Given the description of an element on the screen output the (x, y) to click on. 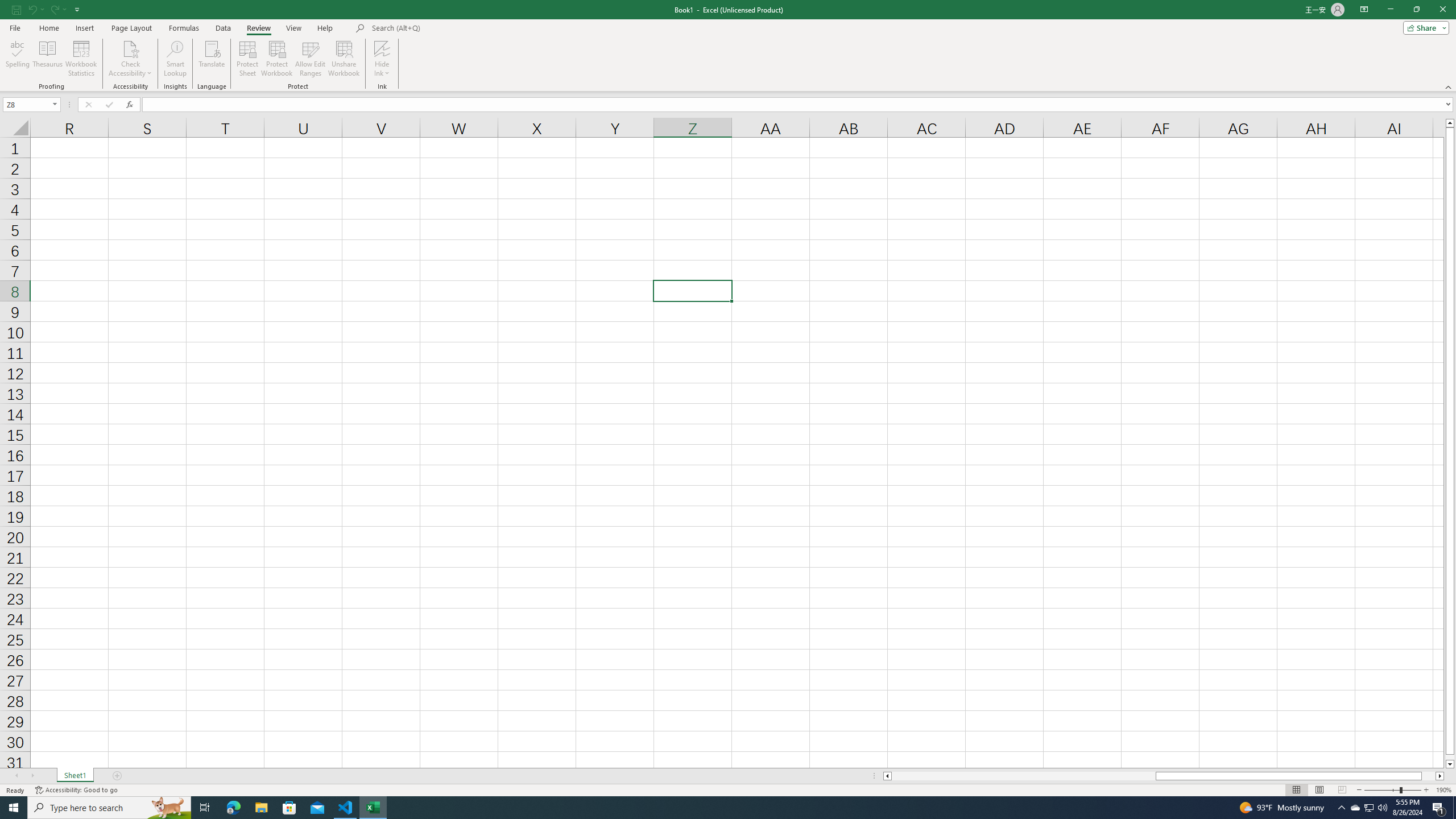
Protect Sheet... (247, 58)
Check Accessibility (129, 48)
